Given the description of an element on the screen output the (x, y) to click on. 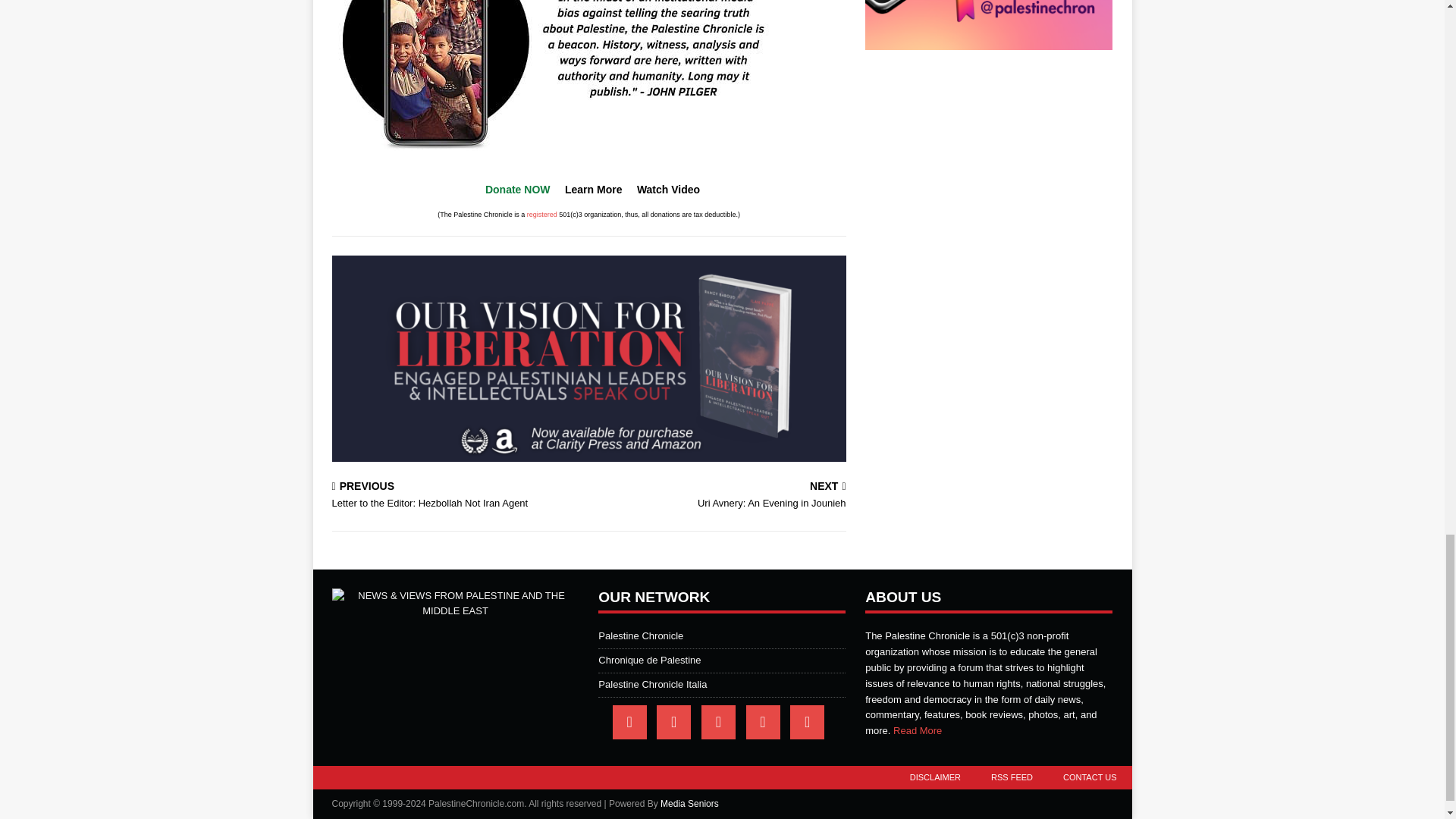
registered (457, 495)
Donate NOW (542, 214)
Learn More (720, 495)
Watch Video (517, 189)
